Given the description of an element on the screen output the (x, y) to click on. 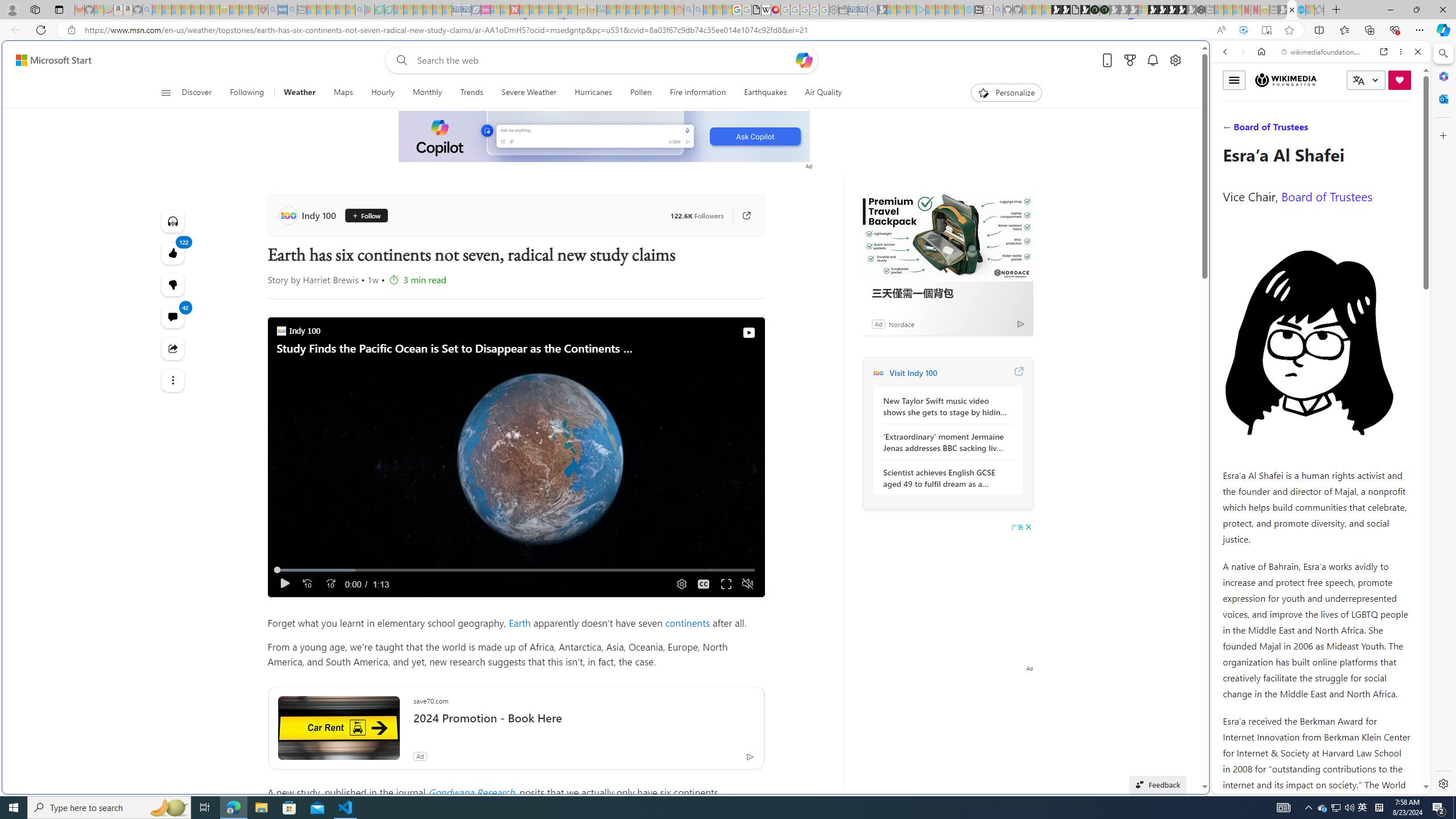
Hourly (382, 92)
Quality Settings (679, 583)
Play Zoo Boom in your browser | Games from Microsoft Start (1065, 9)
Local - MSN - Sleeping (253, 9)
View comments 42 Comment (172, 316)
